Given the description of an element on the screen output the (x, y) to click on. 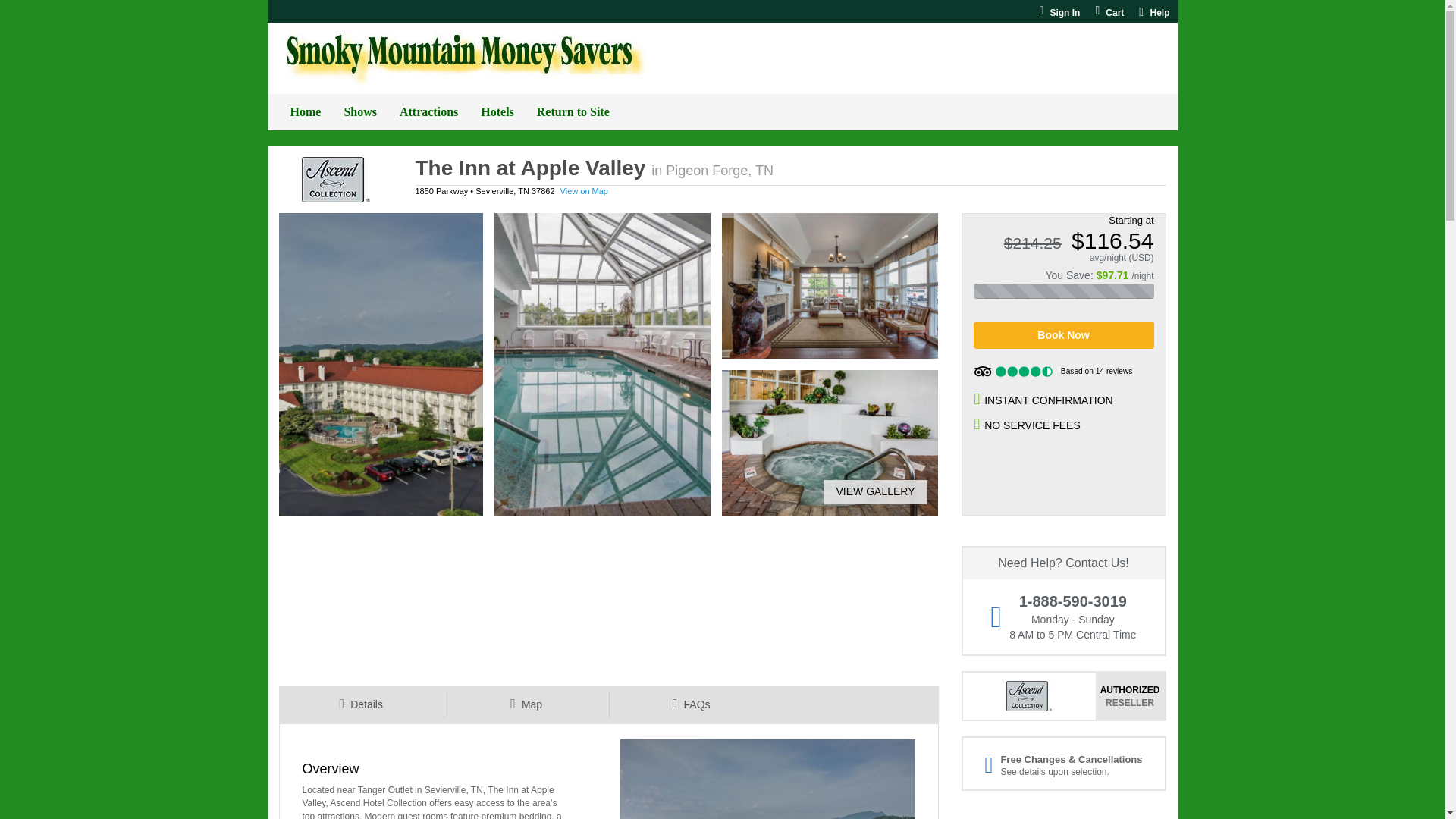
VIEW GALLERY (869, 491)
Cart (1109, 12)
Attractions (428, 112)
Shows (359, 112)
Map (526, 703)
Help (1153, 12)
FAQs (690, 703)
Sign In (1059, 12)
Home (306, 112)
Book Now (1064, 334)
Details (361, 703)
Return to Site (573, 112)
View on Map (584, 190)
Hotels (496, 112)
